Given the description of an element on the screen output the (x, y) to click on. 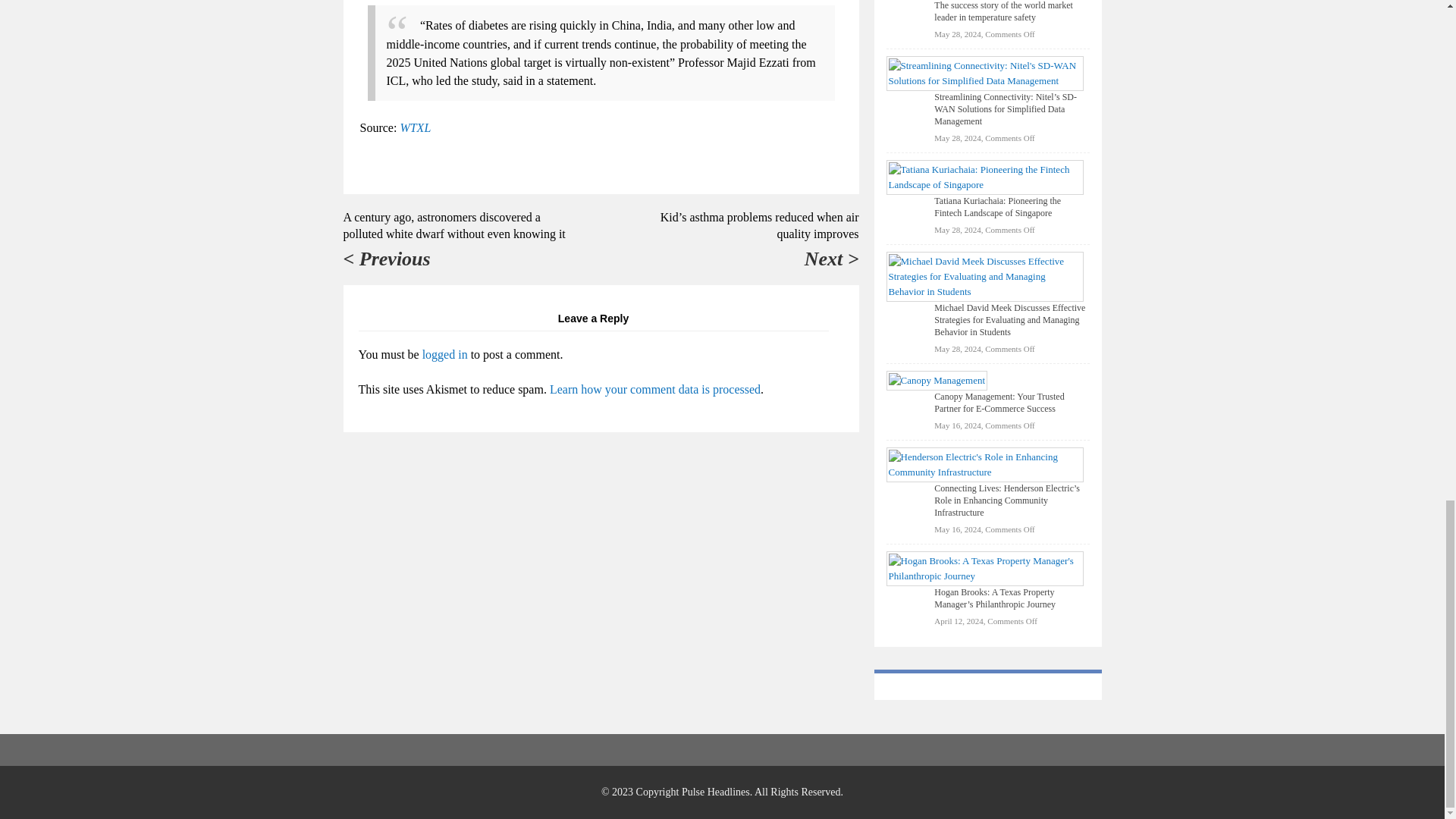
logged in (444, 354)
Learn how your comment data is processed (655, 389)
WTXL  (414, 127)
